Given the description of an element on the screen output the (x, y) to click on. 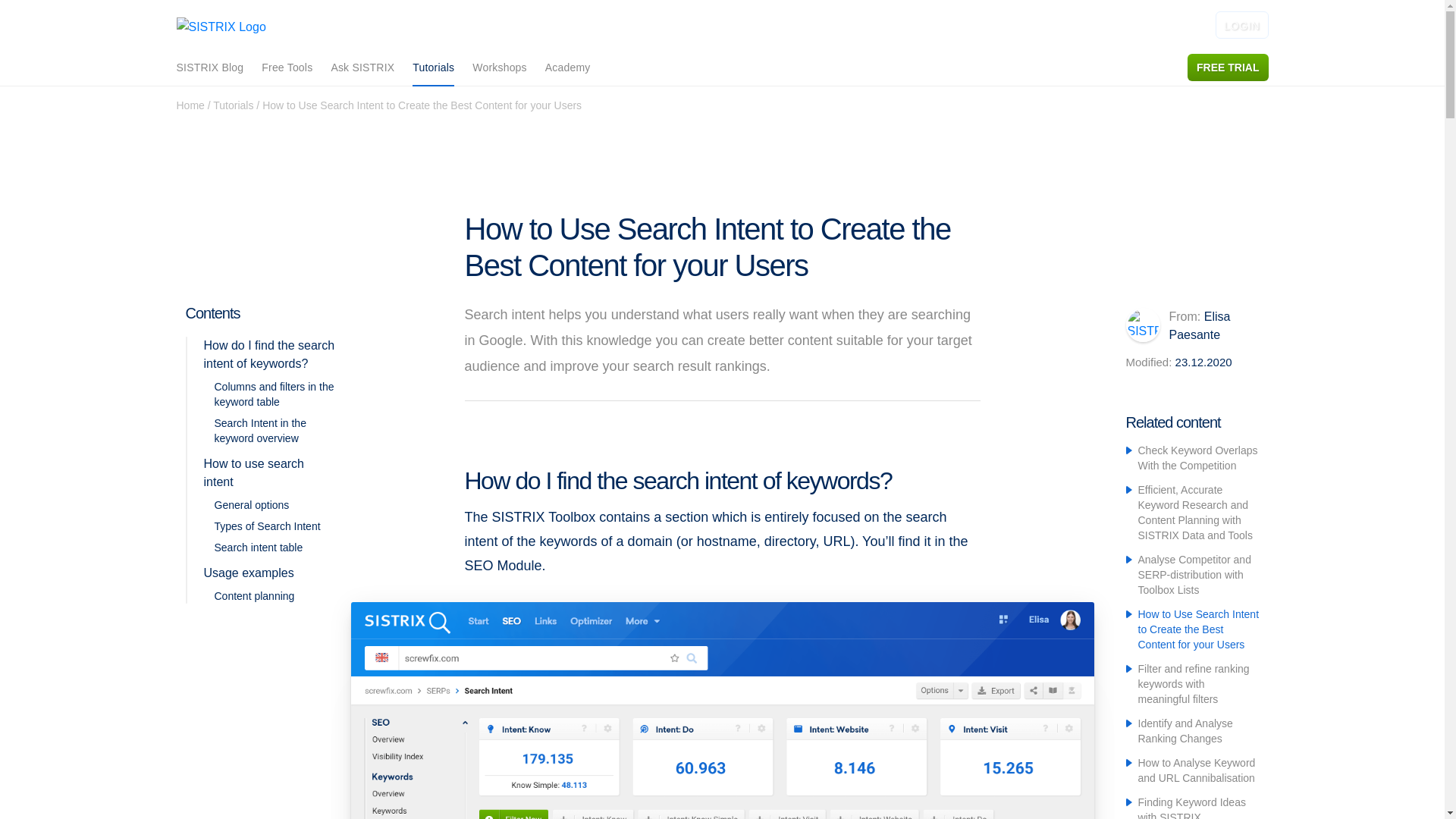
Tutorials (433, 68)
Analyse Competitor and SERP-distribution with Toolbox Lists (1193, 574)
Academy (567, 67)
Usage examples (248, 572)
Free Tools (287, 67)
Finding Keyword Ideas with SISTRIX (1190, 807)
Columns and filters in the keyword table (273, 393)
Search Intent in the keyword overview (259, 430)
Search intent table (258, 547)
FREE TRIAL (1228, 67)
Ask SISTRIX (362, 67)
Filter and refine ranking keywords with meaningful filters (1193, 683)
Tutorials (232, 105)
